Given the description of an element on the screen output the (x, y) to click on. 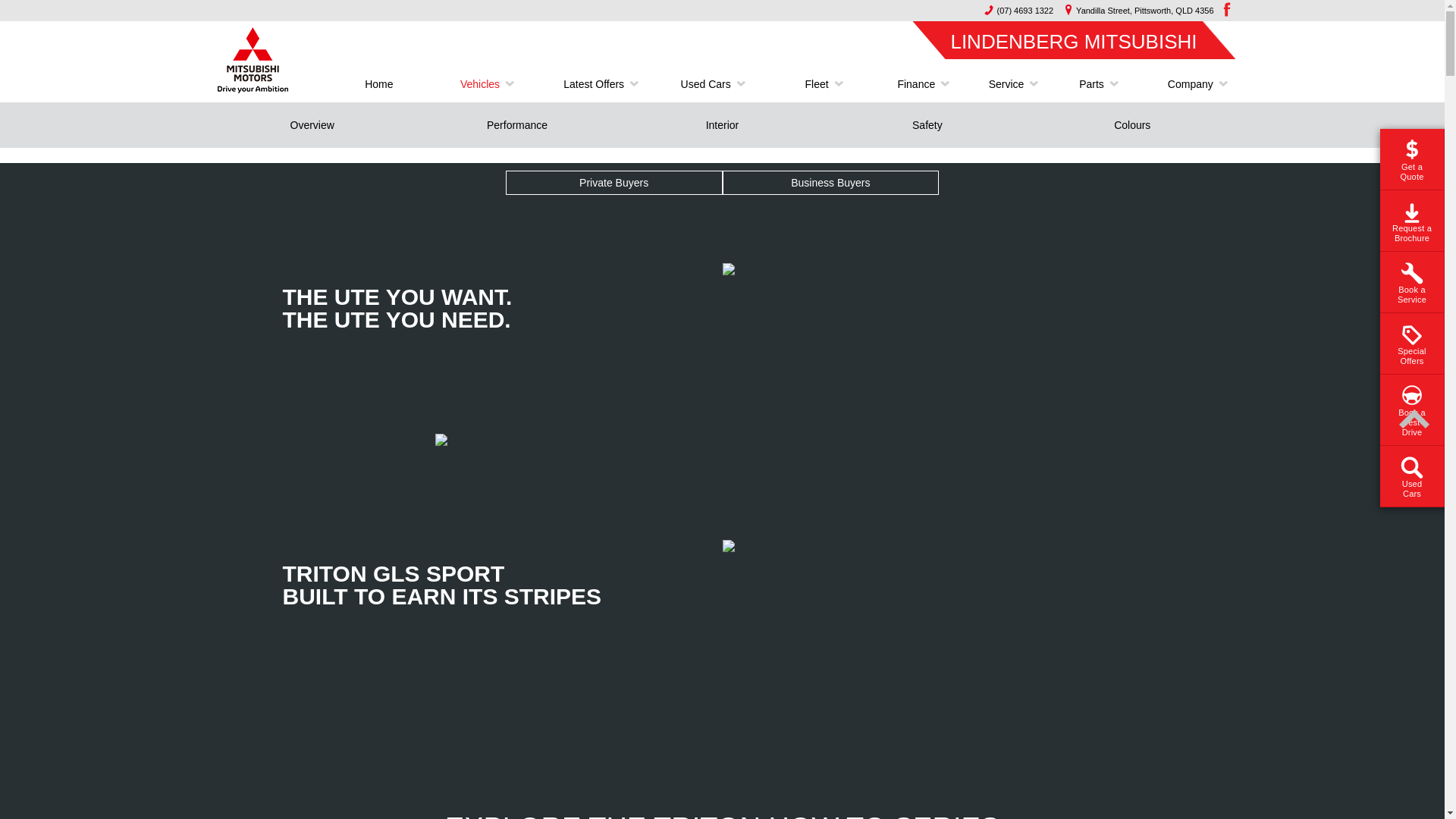
Service Element type: text (1006, 84)
Safety Element type: text (927, 124)
Used Cars Element type: text (705, 84)
Finance Element type: text (915, 84)
Colours Element type: text (1131, 124)
Yandilla Street, Pittsworth, QLD 4356 Element type: text (1135, 10)
facebook Element type: text (1224, 9)
Parts Element type: text (1091, 84)
Overview Element type: text (311, 124)
Fleet Element type: text (816, 84)
Home Element type: text (378, 84)
LINDENBERG MITSUBISHI Element type: text (1073, 40)
Company Element type: text (1184, 84)
Private Buyers Element type: text (614, 182)
Latest Offers Element type: text (593, 84)
Performance Element type: text (516, 124)
Vehicles Element type: text (479, 84)
Business Buyers Element type: text (830, 182)
Interior Element type: text (721, 124)
